Given the description of an element on the screen output the (x, y) to click on. 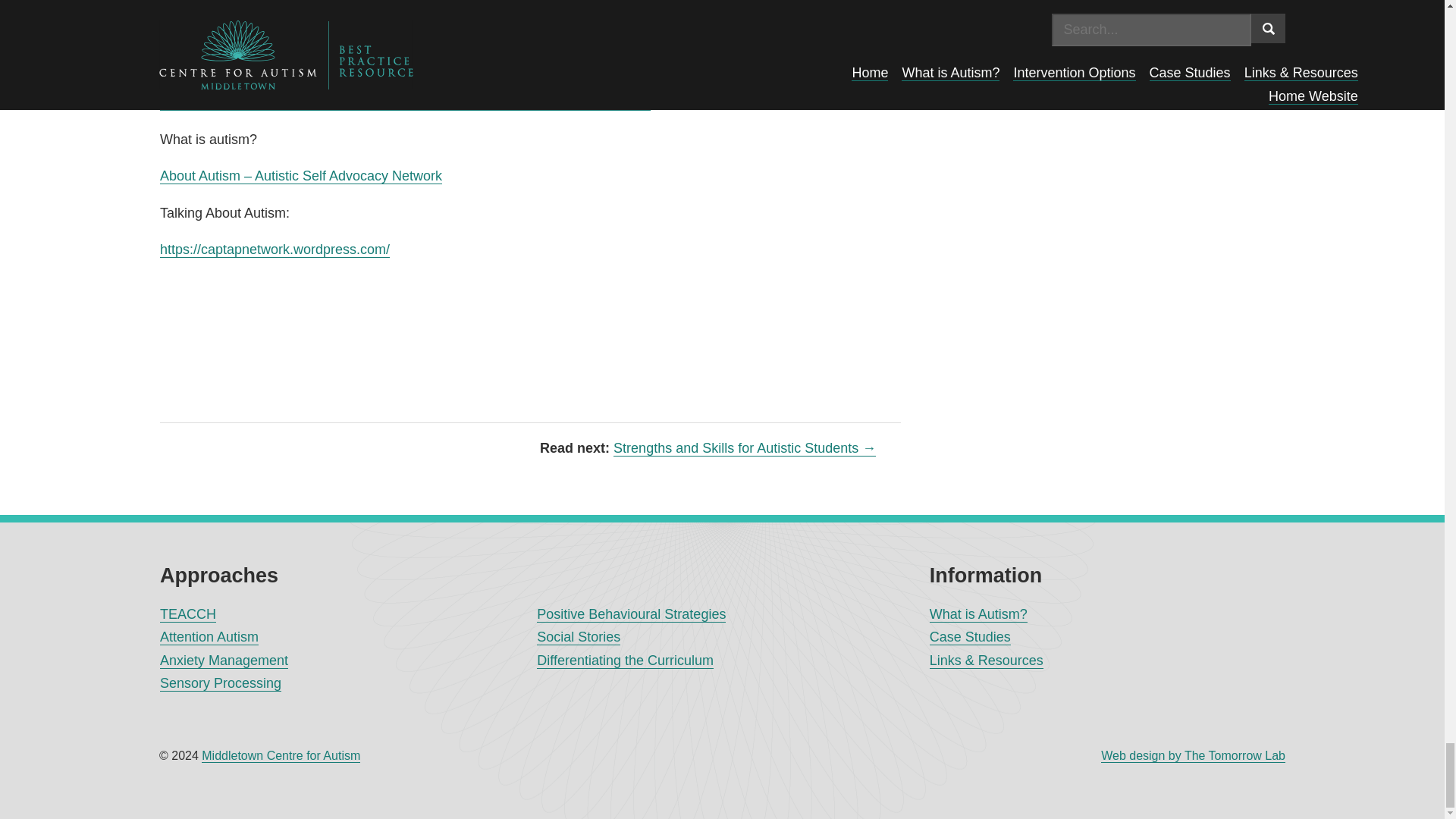
Anxiety Management (224, 660)
TEACCH (187, 614)
Padlet (179, 28)
Attention Autism (209, 637)
